Given the description of an element on the screen output the (x, y) to click on. 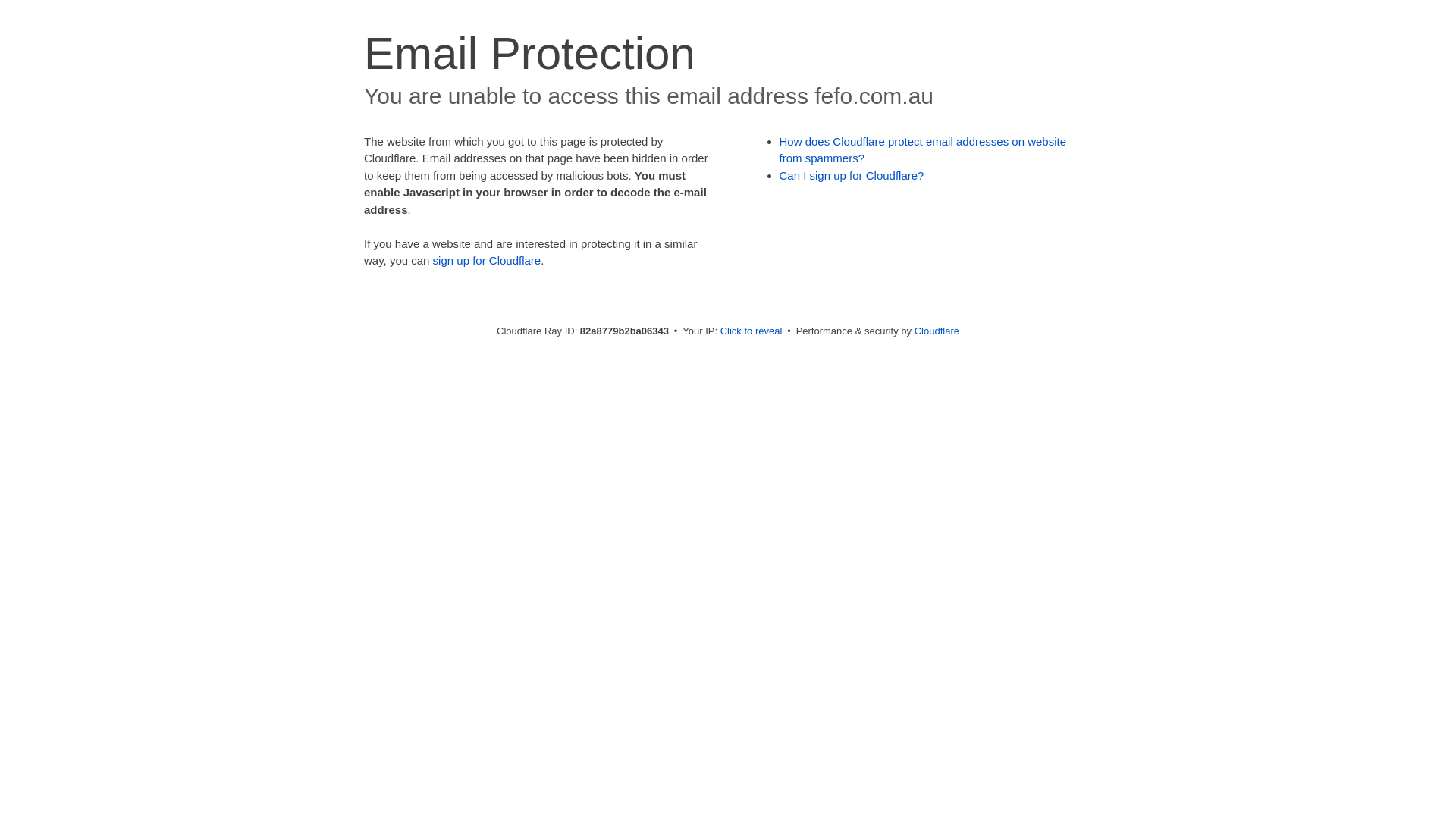
Can I sign up for Cloudflare? Element type: text (851, 175)
Cloudflare Element type: text (936, 330)
Click to reveal Element type: text (751, 330)
sign up for Cloudflare Element type: text (487, 260)
